Given the description of an element on the screen output the (x, y) to click on. 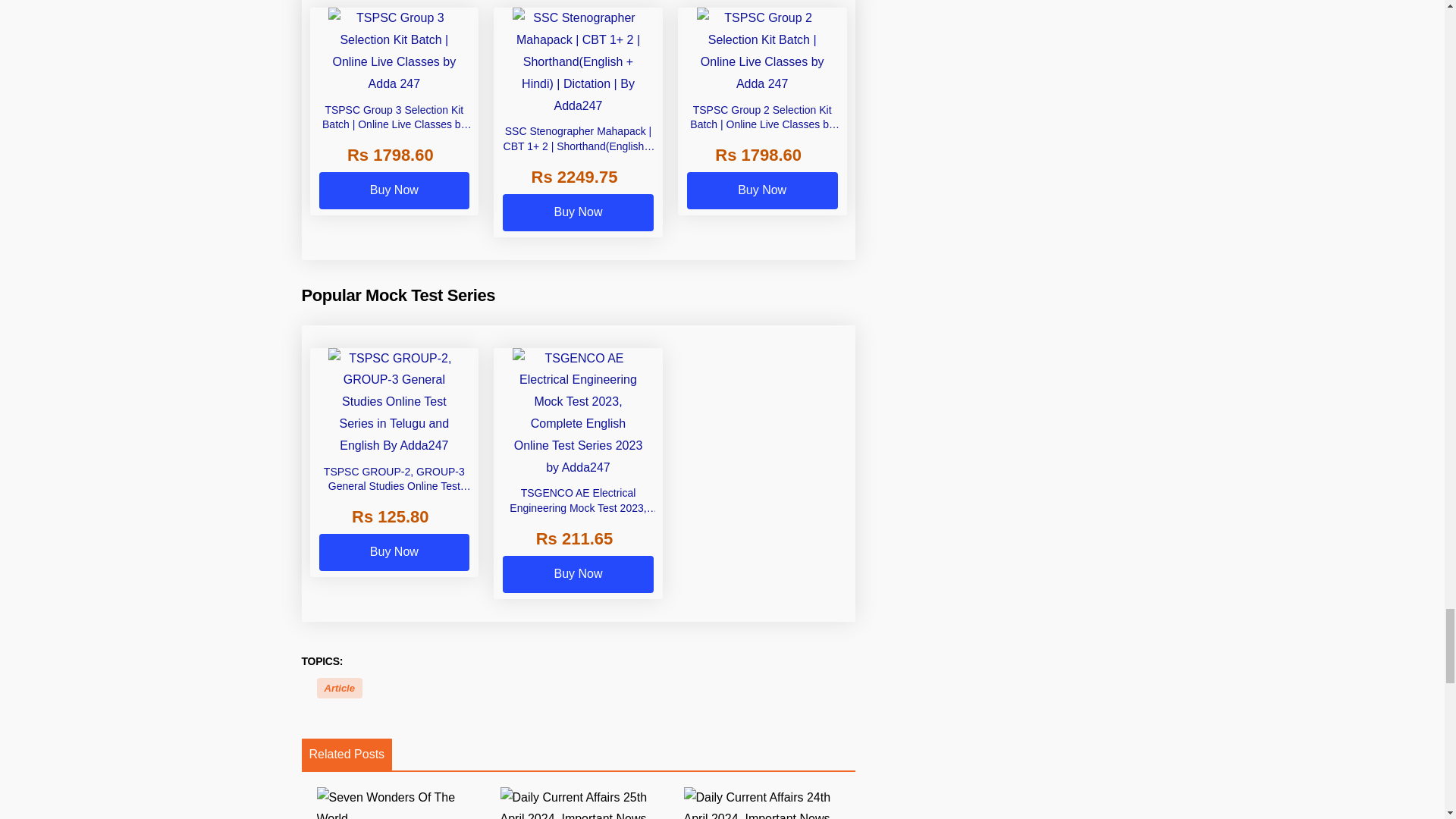
List Of The New Seven Wonders of the World (402, 803)
